Given the description of an element on the screen output the (x, y) to click on. 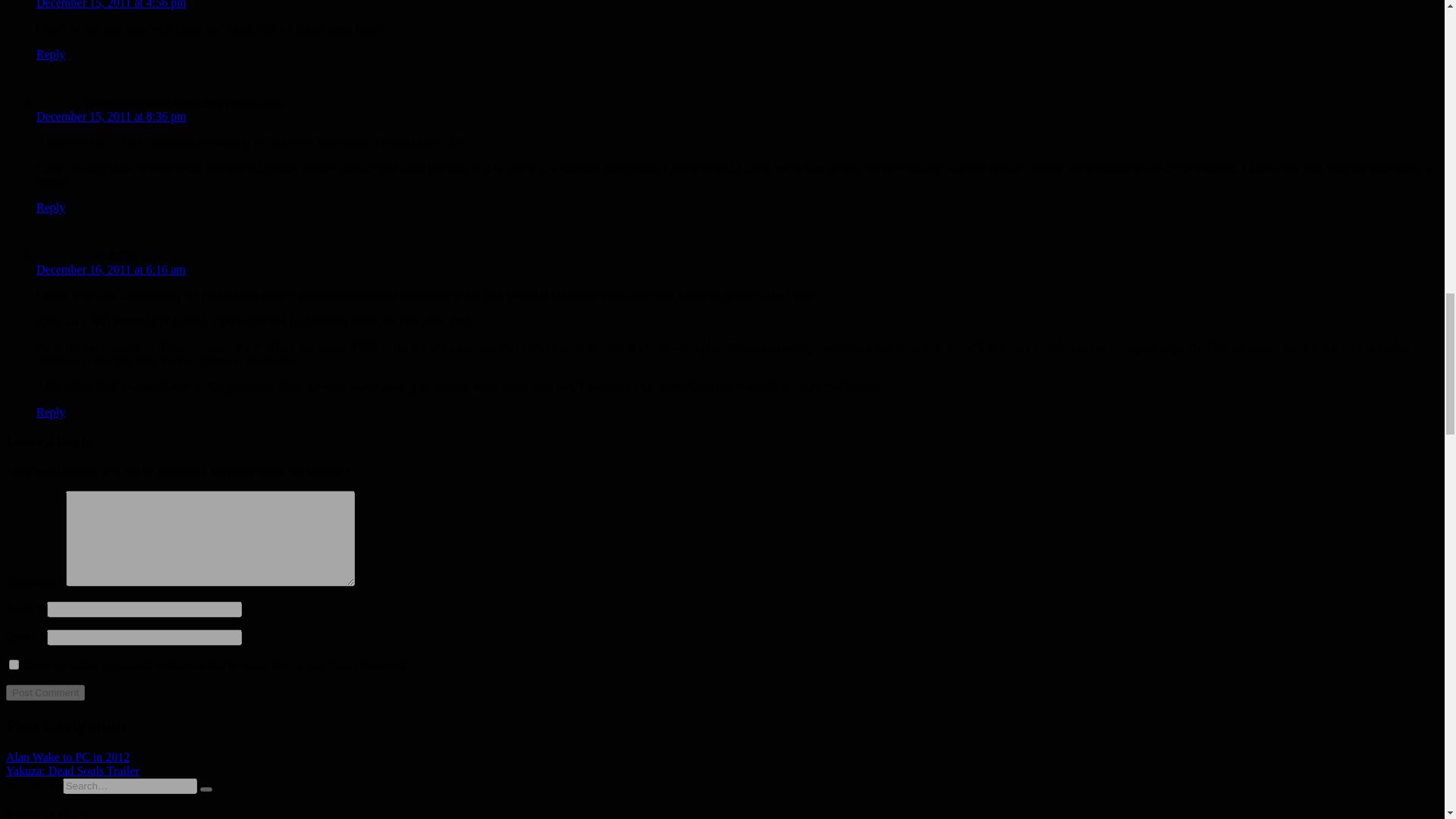
December 15, 2011 at 4:56 pm (111, 4)
Reply (50, 206)
December 15, 2011 at 8:36 pm (111, 115)
Post Comment (44, 692)
December 16, 2011 at 6:16 am (111, 269)
Search for: (129, 785)
yes (13, 664)
Reply (50, 411)
Reply (50, 53)
